Given the description of an element on the screen output the (x, y) to click on. 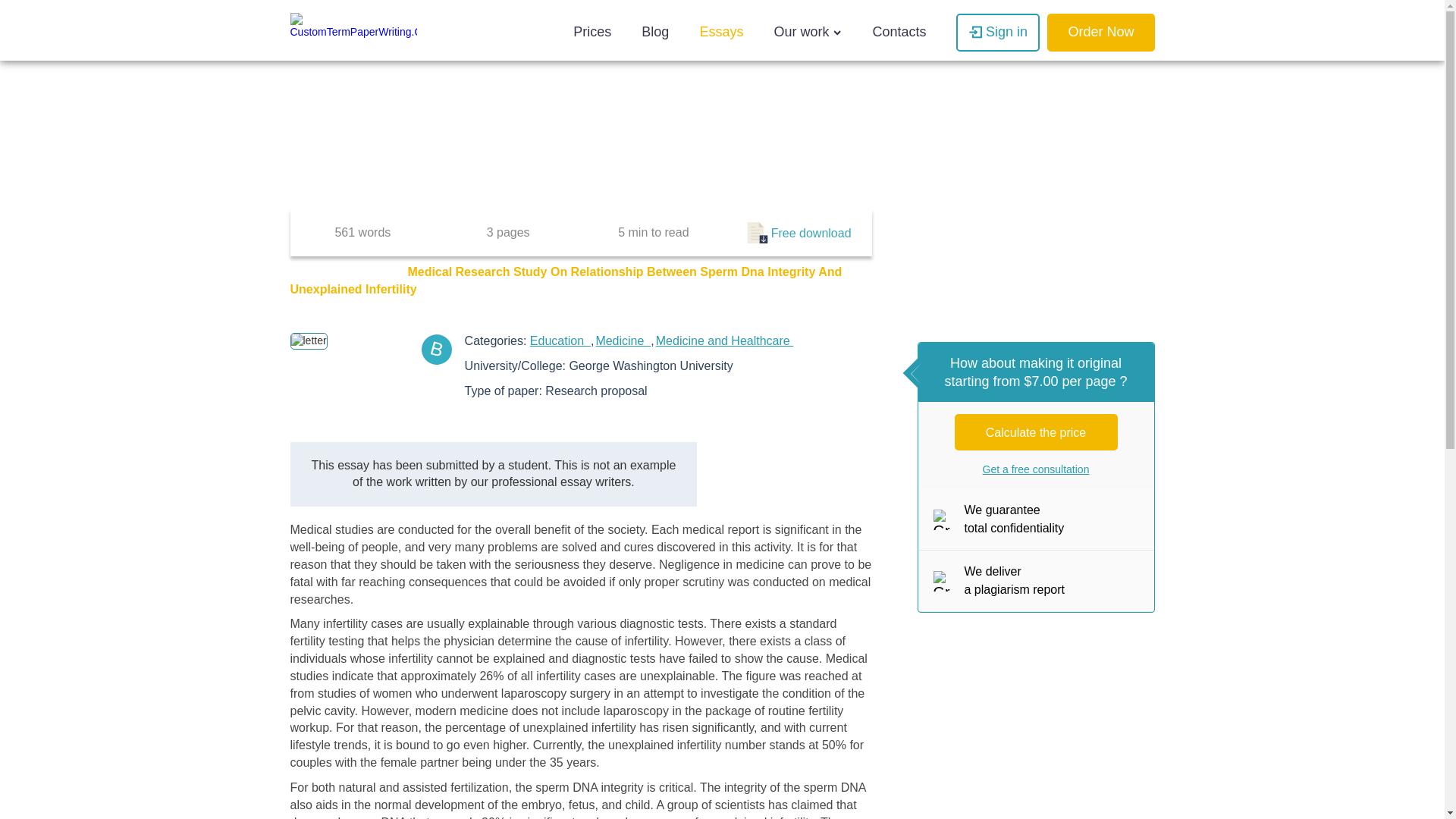
Prices (591, 32)
Medicine  (622, 340)
Medicine and Healthcare  (724, 340)
Order Now (1100, 32)
Contacts (898, 32)
Calculate the price (1036, 432)
Essays (367, 271)
Essays (721, 32)
Education  (560, 340)
Home (306, 271)
